Given the description of an element on the screen output the (x, y) to click on. 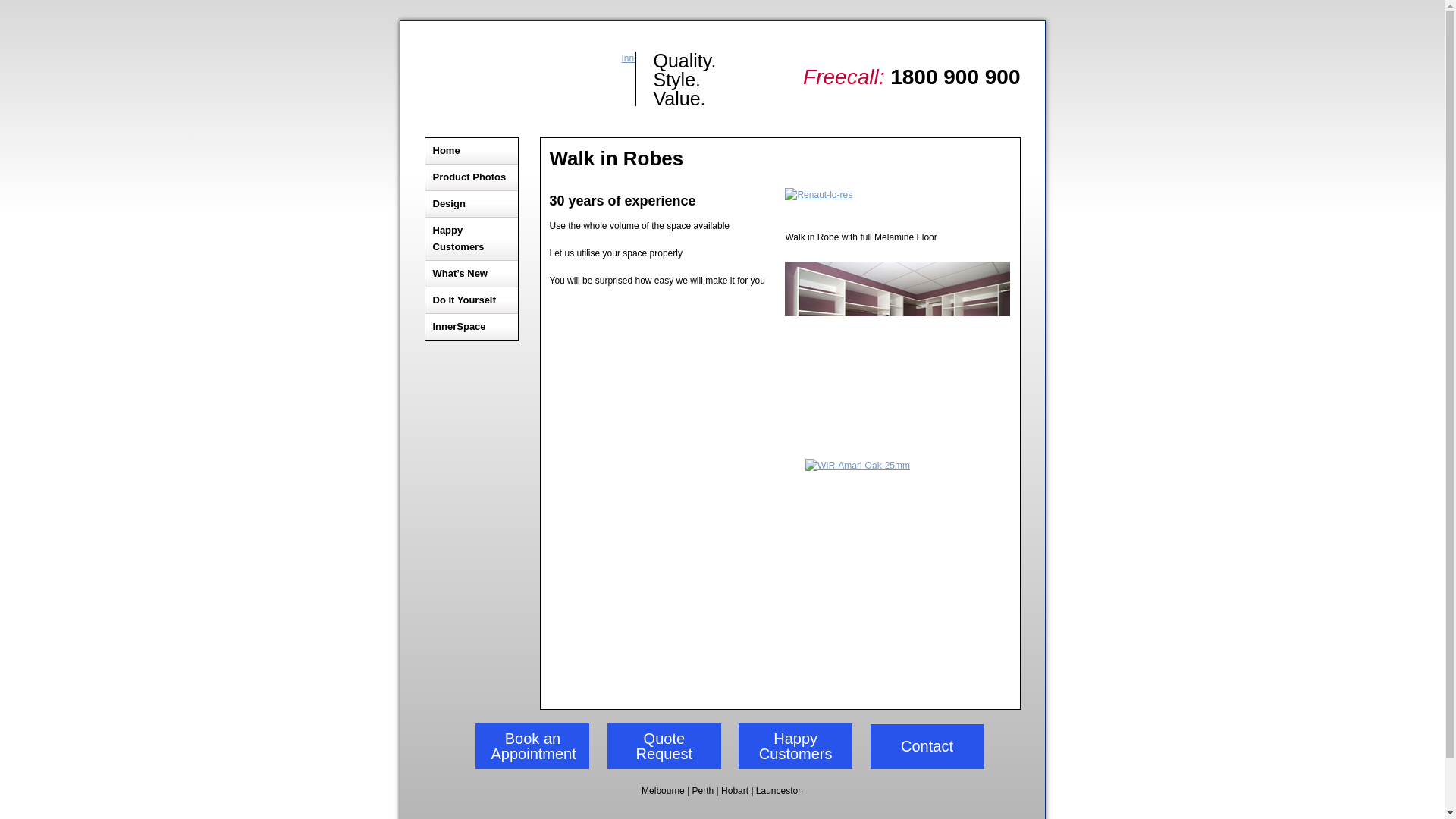
Contact (927, 746)
Design (471, 203)
InnerSpace Wardrobes (530, 78)
Do It Yourself (471, 300)
Product Photos (471, 177)
Home (471, 151)
Quote Request (663, 746)
Happy Customers (471, 239)
Happy Customers (794, 746)
InnerSpace (471, 326)
Book an Appointment (532, 746)
